Given the description of an element on the screen output the (x, y) to click on. 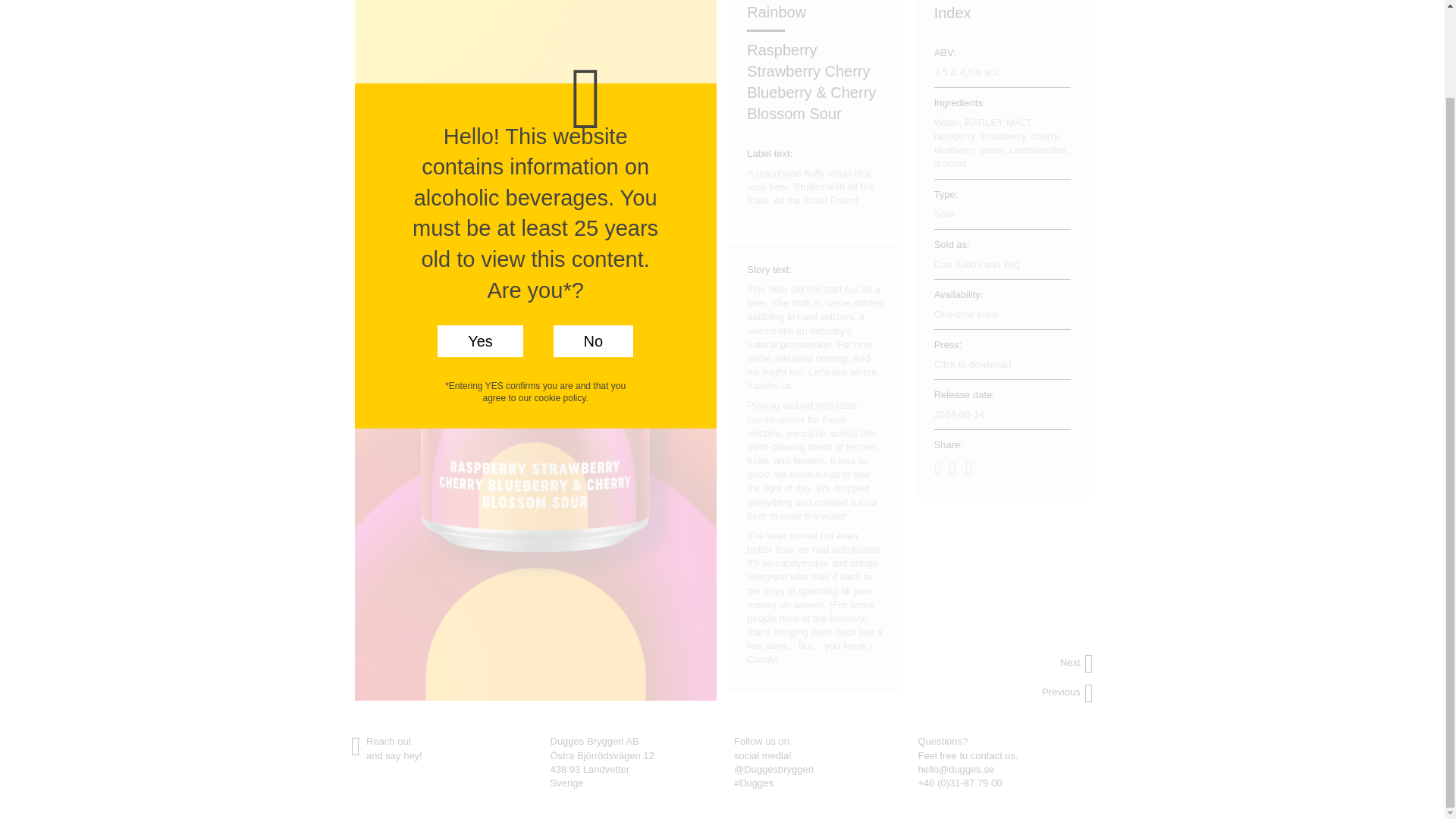
Click to download (1002, 364)
Yes (479, 241)
Previous (1069, 693)
Momo (1069, 693)
Cola (1069, 663)
No (592, 241)
Next (1069, 663)
